Given the description of an element on the screen output the (x, y) to click on. 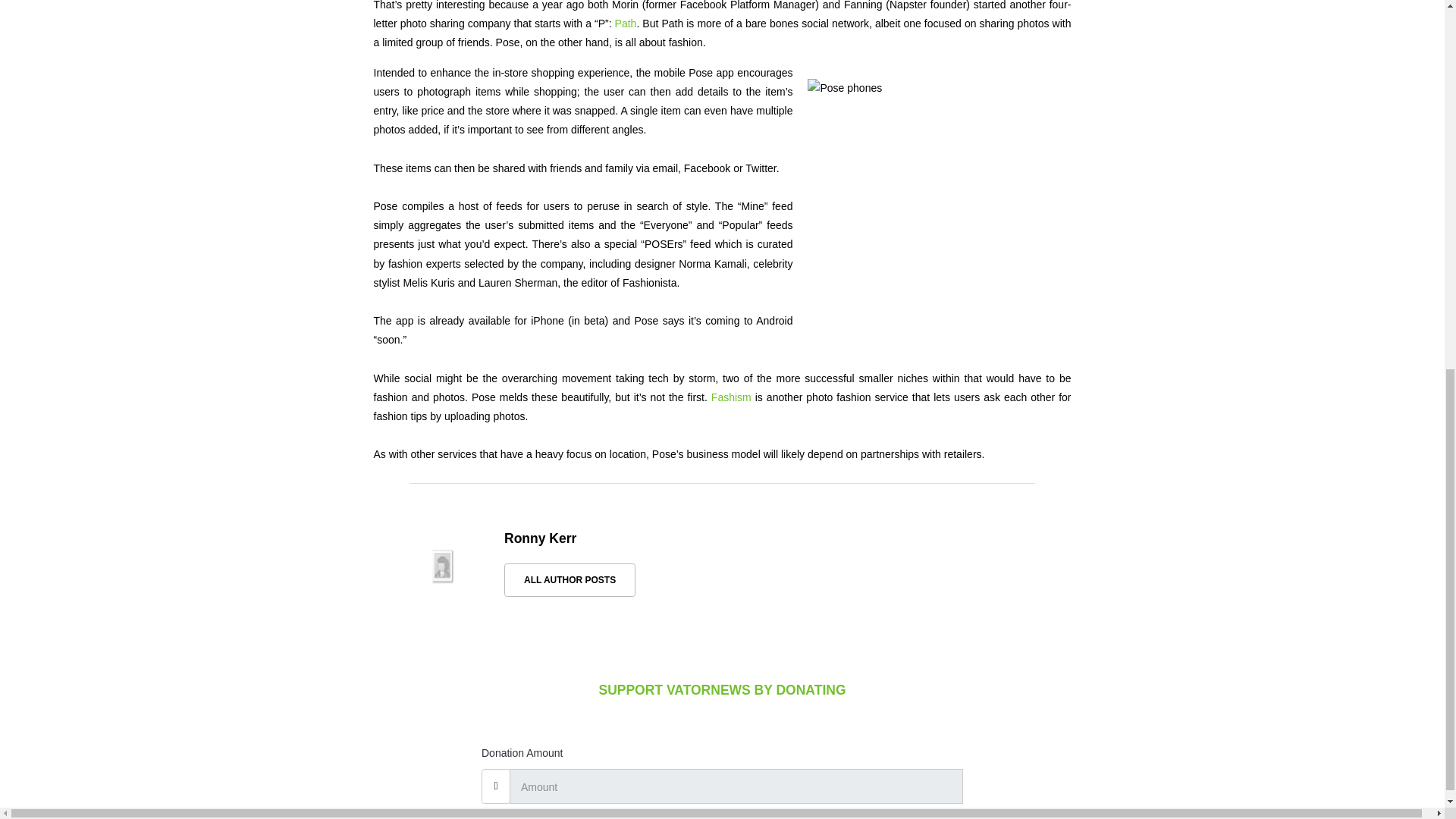
Pose phones (931, 208)
Ronny Kerr (539, 538)
ALL AUTHOR POSTS (568, 580)
Fashism (731, 397)
Path (625, 23)
